Given the description of an element on the screen output the (x, y) to click on. 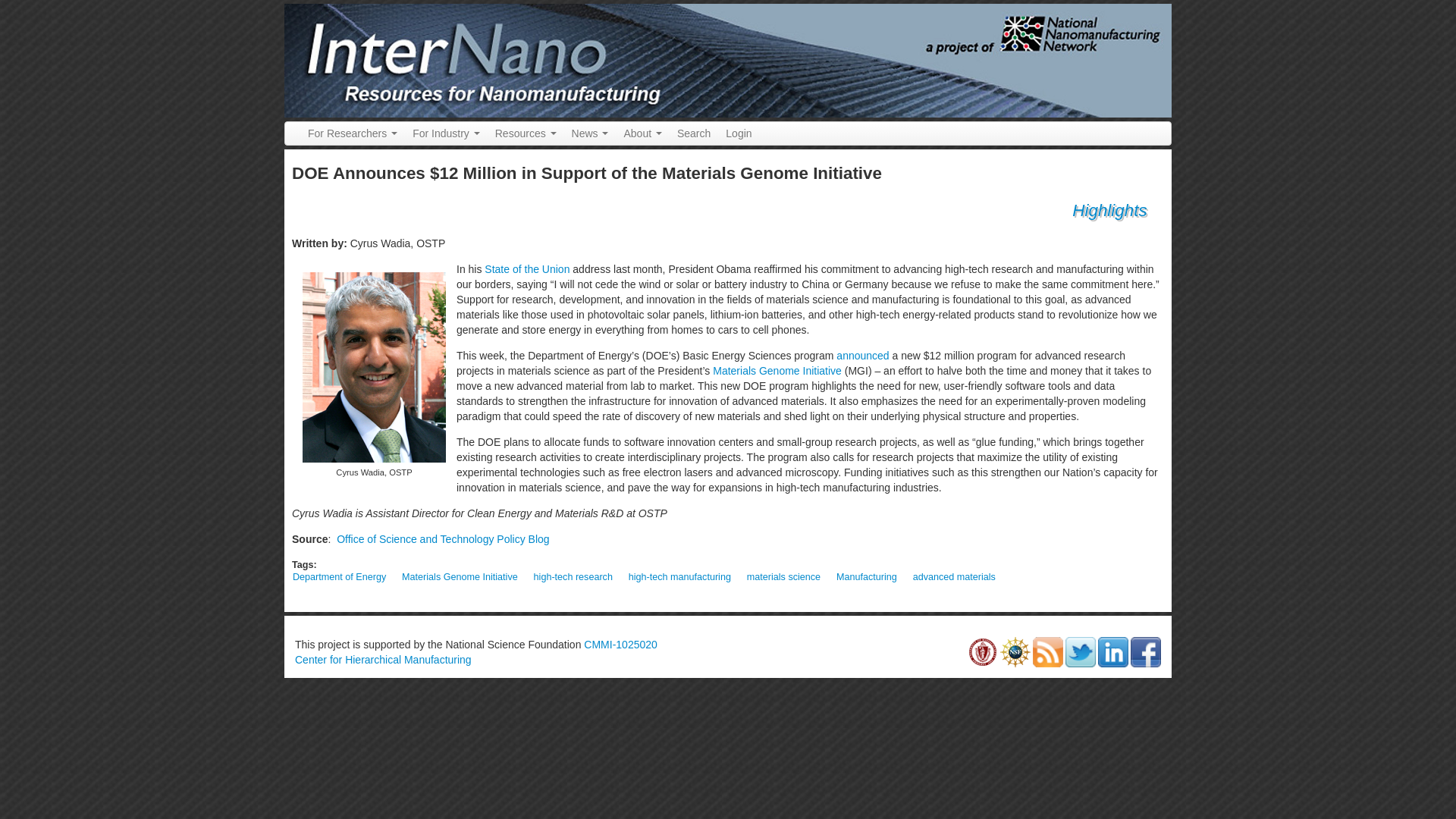
For Researchers (351, 133)
Home (727, 60)
Skip to content (34, 4)
Resources (525, 133)
For Industry (445, 133)
News (589, 133)
